Given the description of an element on the screen output the (x, y) to click on. 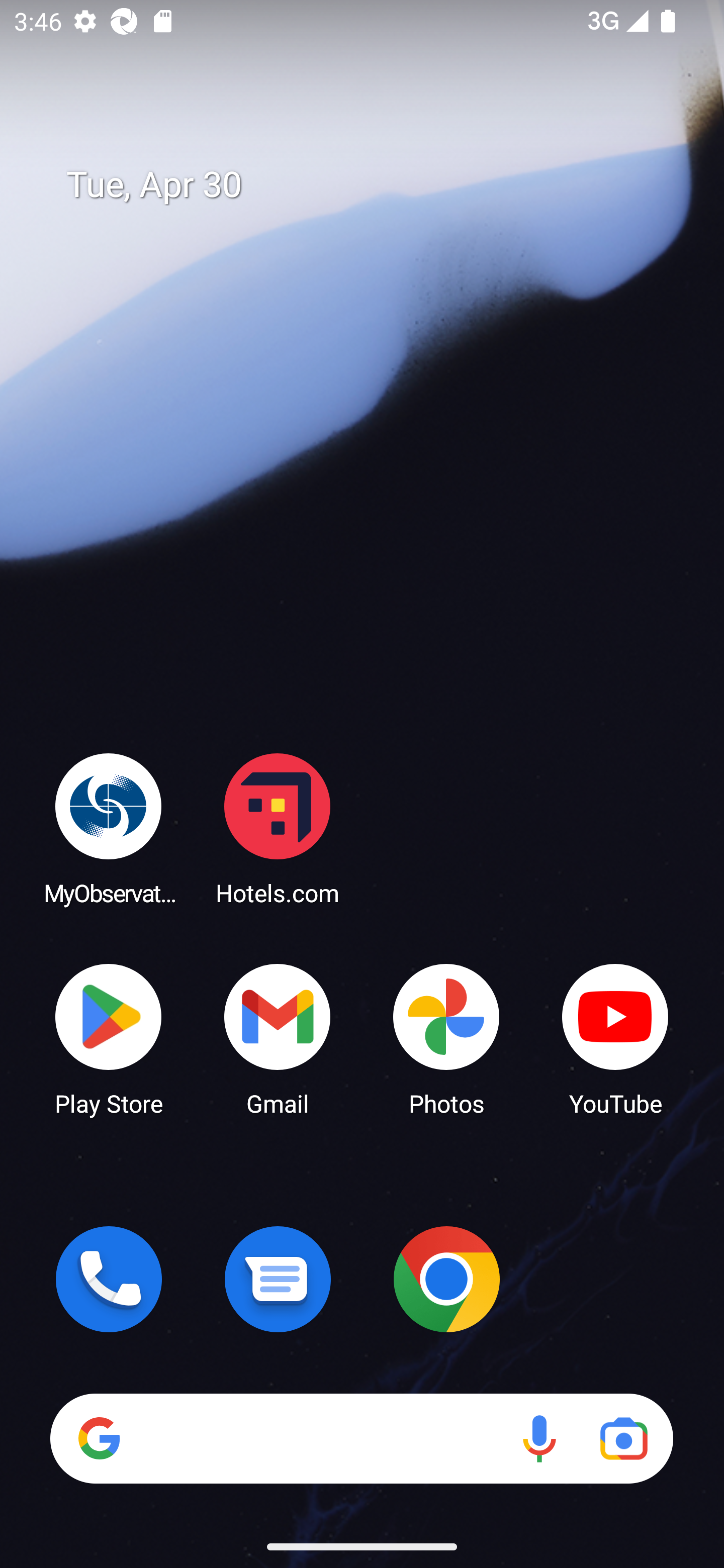
Tue, Apr 30 (375, 184)
MyObservatory (108, 828)
Hotels.com (277, 828)
Play Store (108, 1038)
Gmail (277, 1038)
Photos (445, 1038)
YouTube (615, 1038)
Phone (108, 1279)
Messages (277, 1279)
Chrome (446, 1279)
Search Voice search Google Lens (361, 1438)
Voice search (539, 1438)
Google Lens (623, 1438)
